Given the description of an element on the screen output the (x, y) to click on. 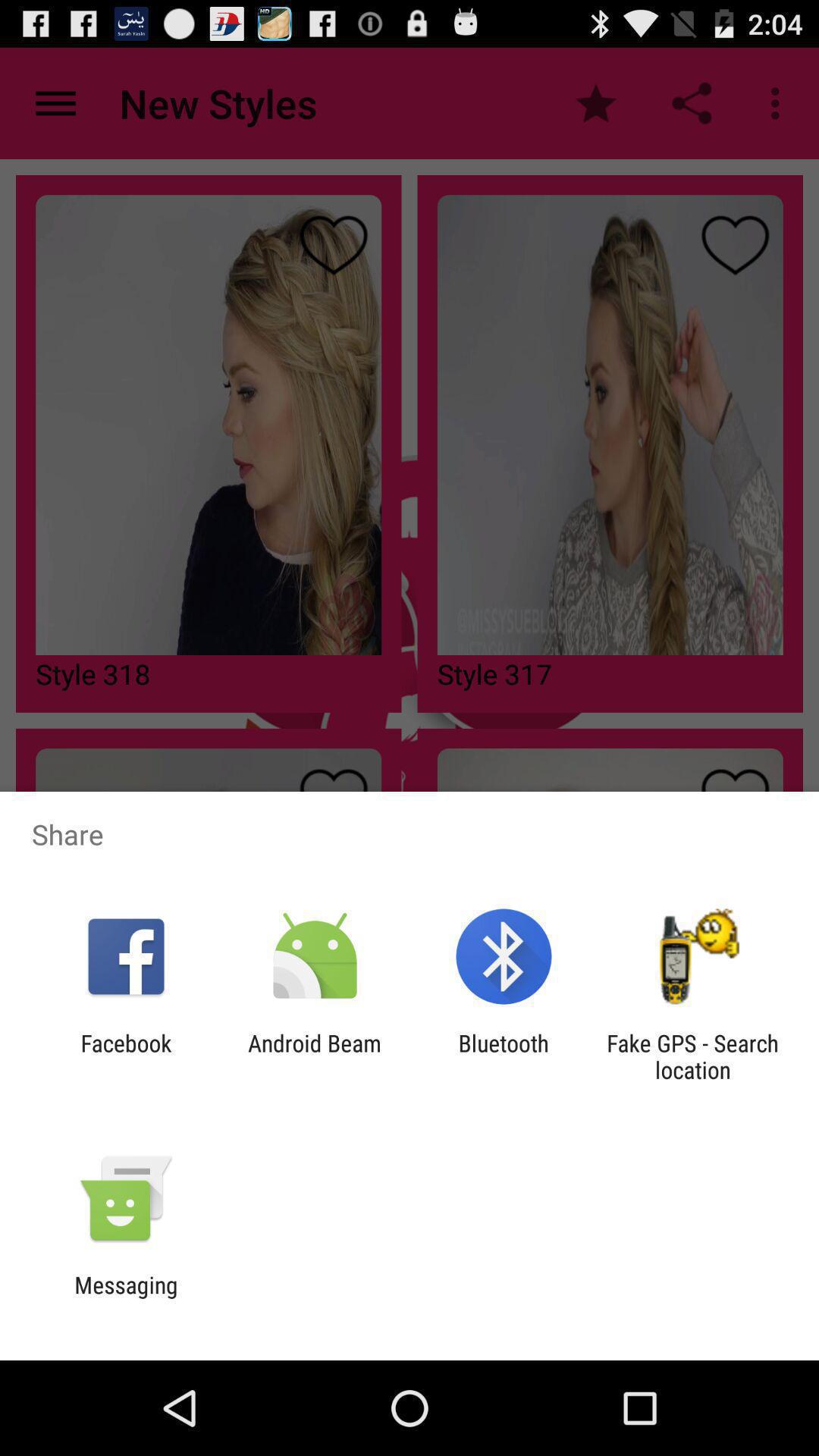
turn on fake gps search app (692, 1056)
